Given the description of an element on the screen output the (x, y) to click on. 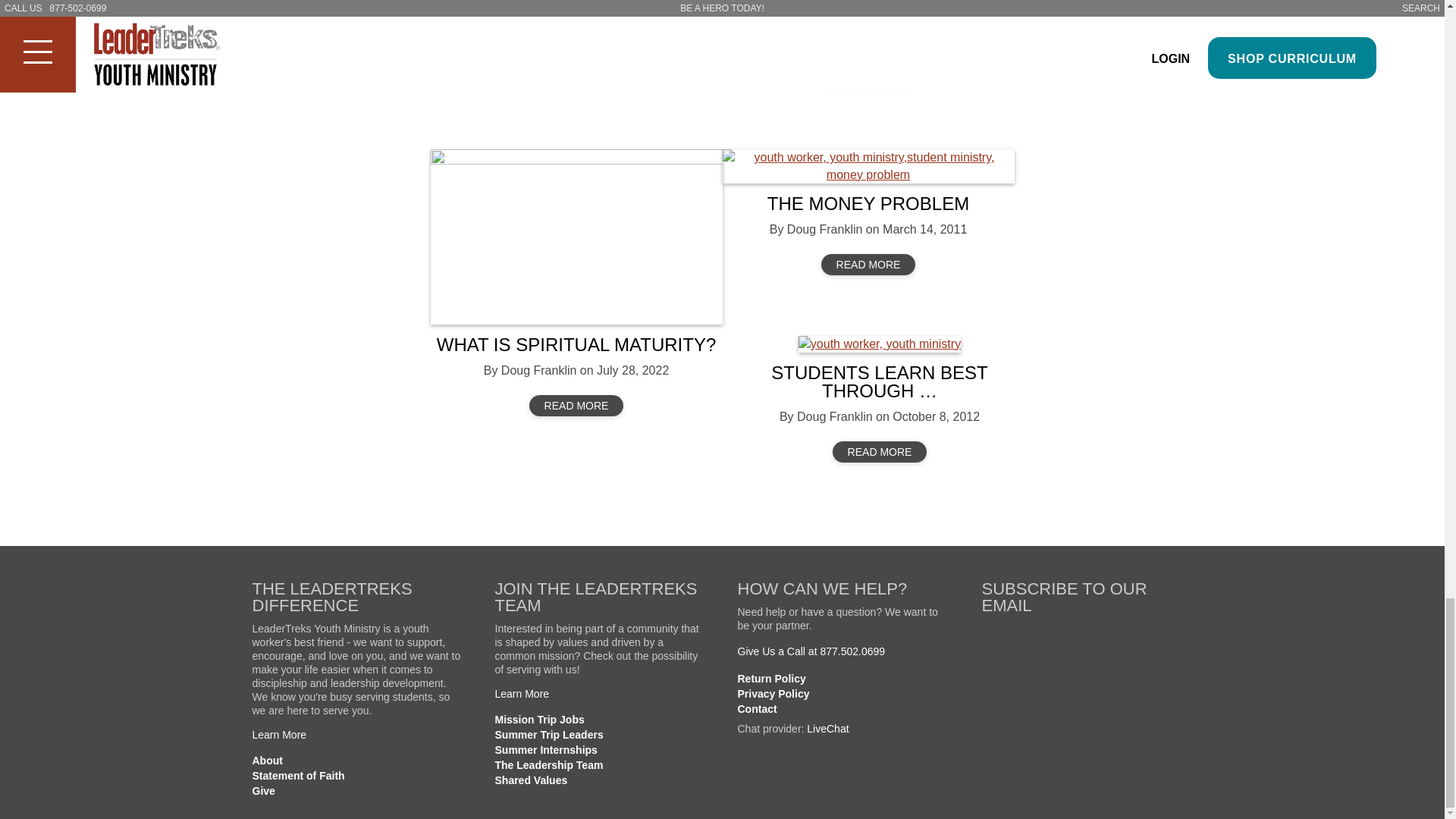
READ MORE (868, 77)
READ MORE (576, 405)
THE 5 PURPOSES OF YOUTH MINISTRY (576, 4)
WHAT IS SPIRITUAL MATURITY? (576, 344)
The Money Problem (867, 166)
What is Spiritual Maturity? (576, 236)
READ MORE (576, 59)
